Given the description of an element on the screen output the (x, y) to click on. 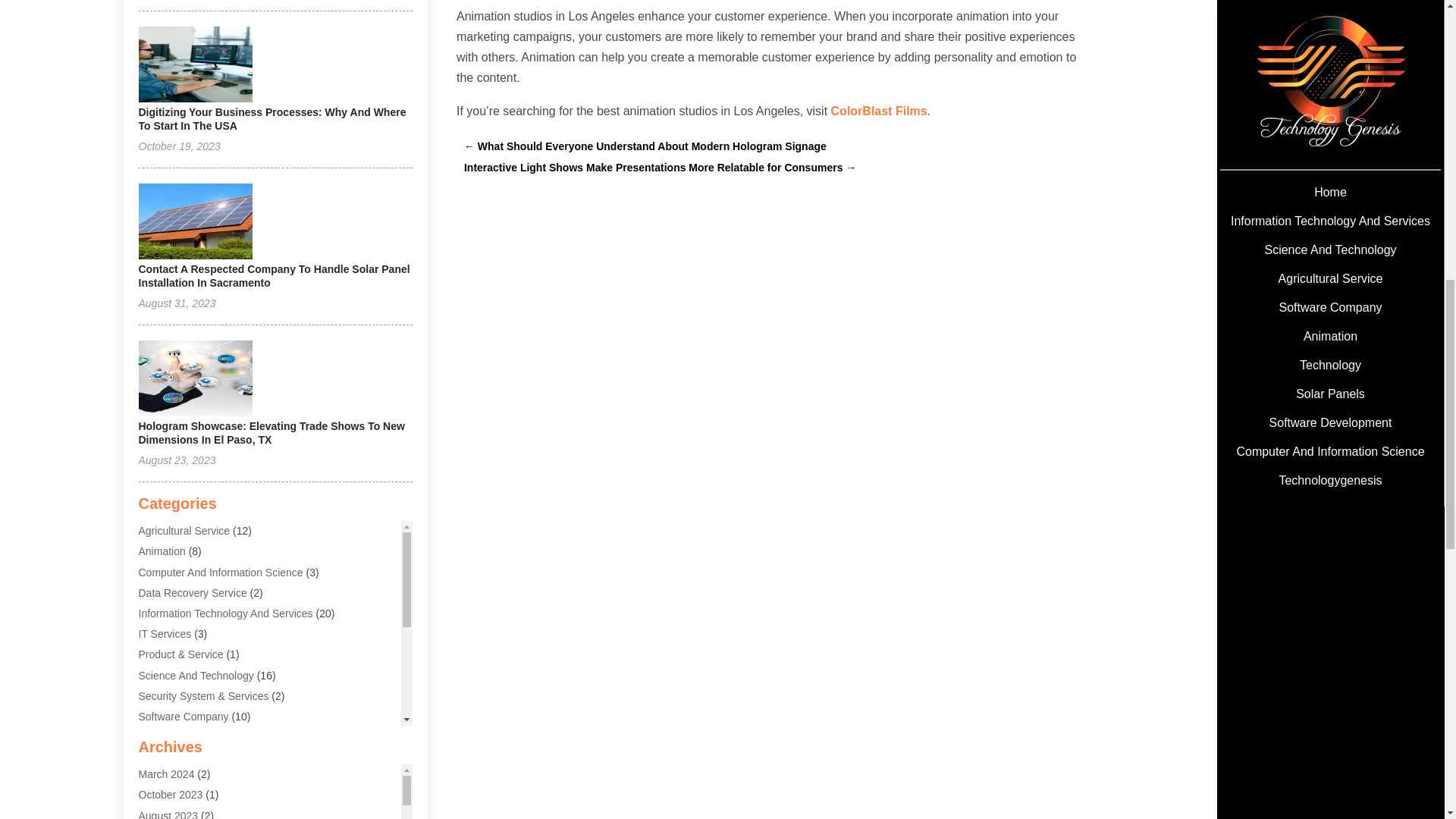
Computer And Information Science (220, 572)
Data Recovery Service (192, 592)
Agricultural Service (184, 530)
Animation (161, 551)
